Given the description of an element on the screen output the (x, y) to click on. 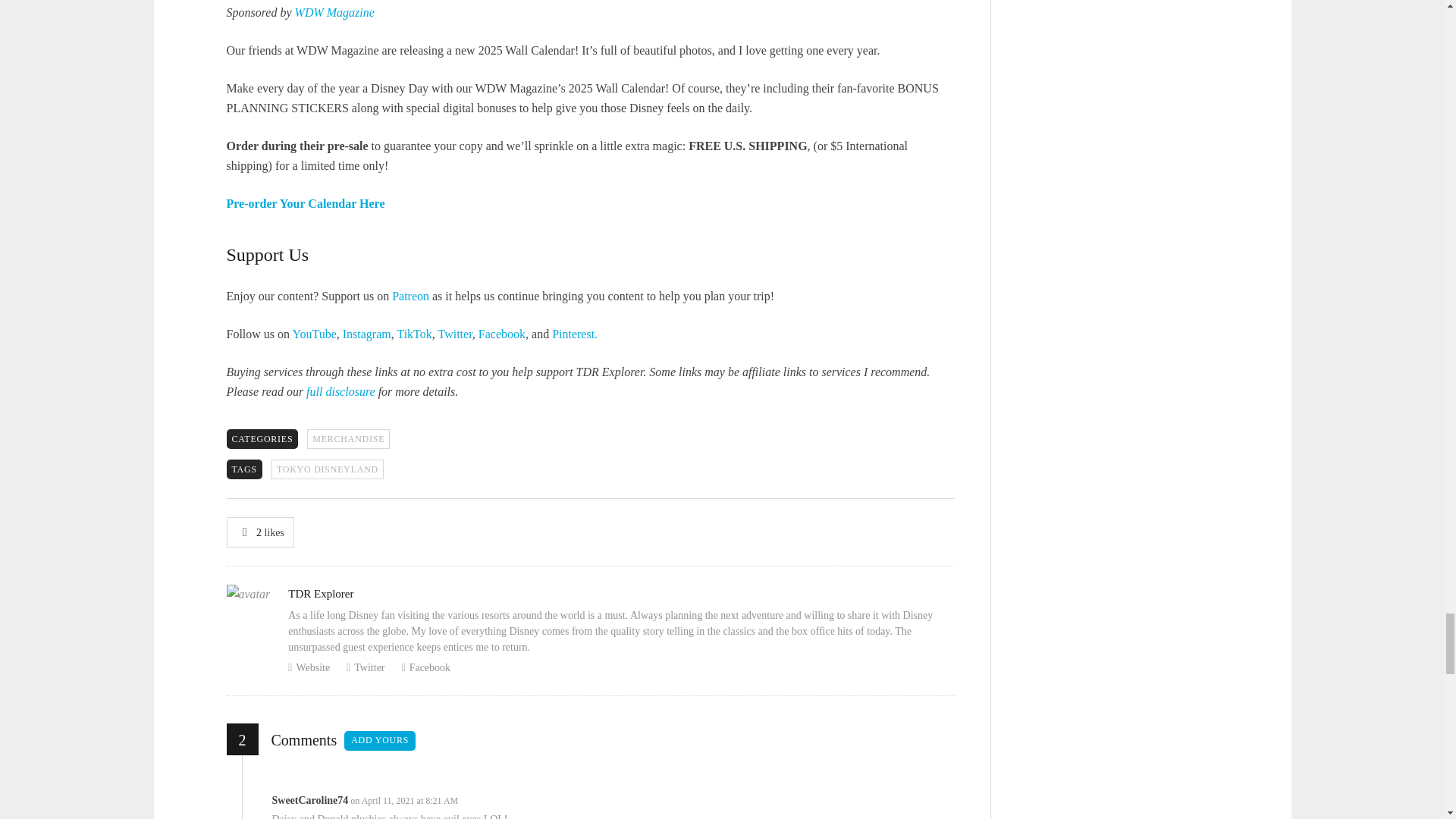
Pre-order Your Calendar Here (304, 203)
Pinterest. (573, 333)
Twitter (454, 333)
YouTube (314, 333)
TDR (314, 333)
Facebook (502, 333)
Patreon (410, 295)
TikTok (413, 333)
TDR Explorer on Facebook (502, 333)
Instagram (366, 333)
